Given the description of an element on the screen output the (x, y) to click on. 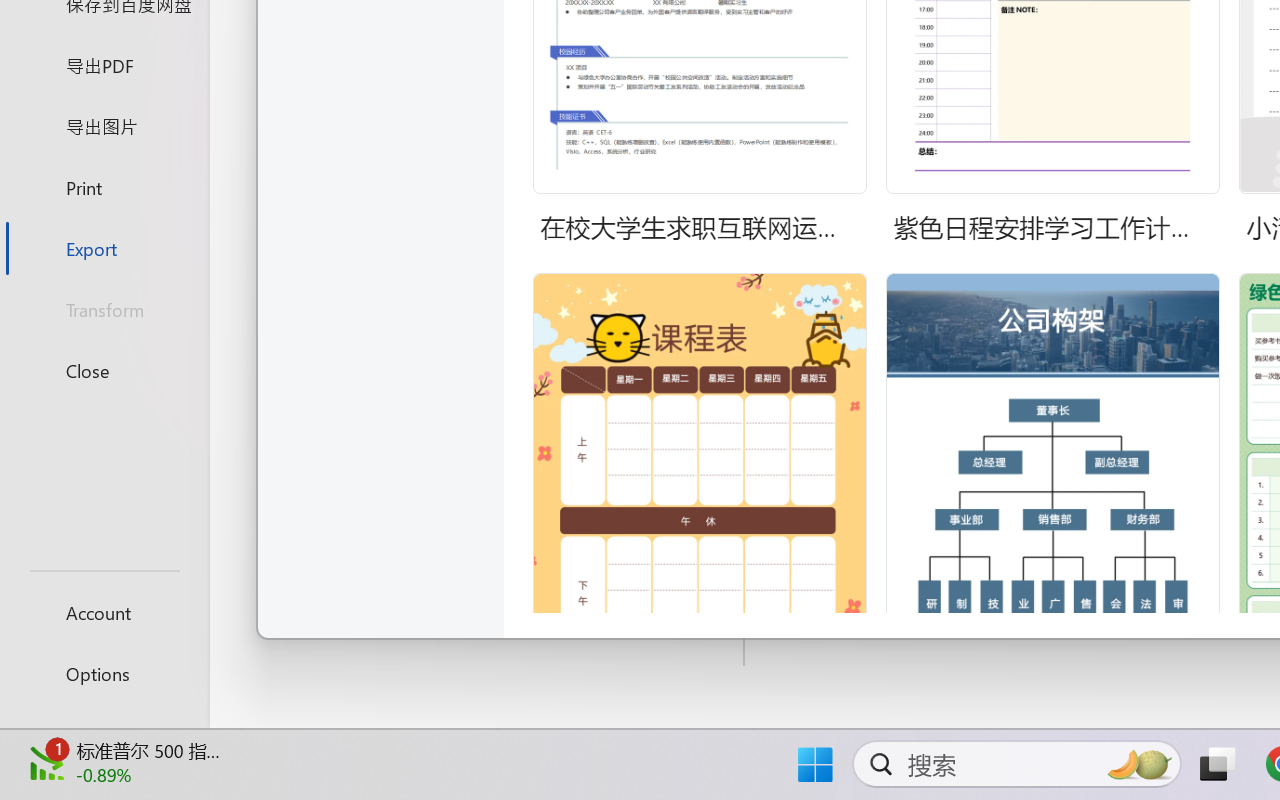
Go to the Reporting and appeals page (1134, 183)
Go to the Product policy page (861, 183)
